Given the description of an element on the screen output the (x, y) to click on. 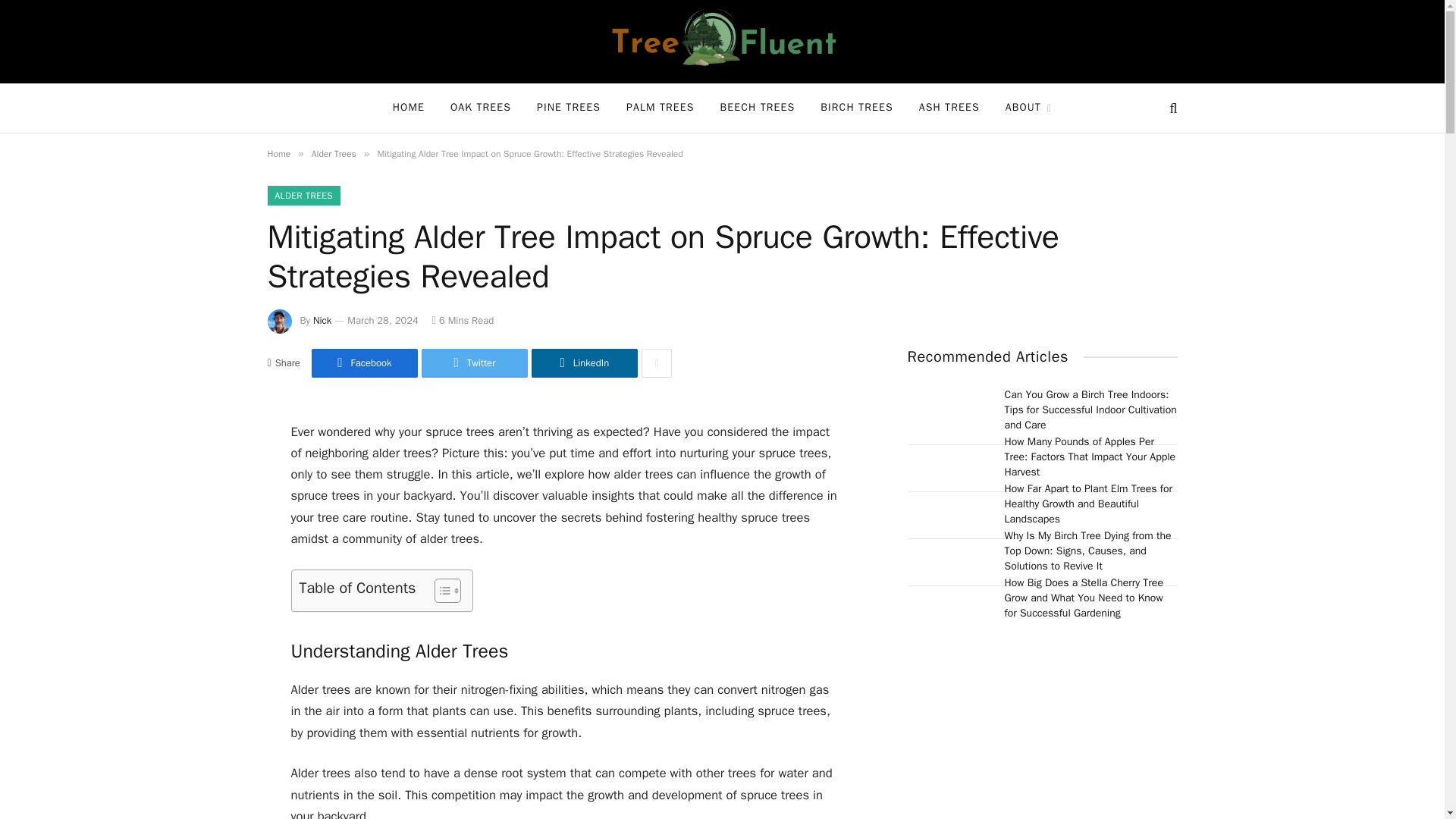
Tree Fluent (721, 41)
OAK TREES (481, 107)
BIRCH TREES (856, 107)
Nick (322, 319)
Facebook (364, 362)
HOME (409, 107)
Share on Facebook (364, 362)
PALM TREES (659, 107)
ABOUT (1028, 107)
Posts by Nick (322, 319)
BEECH TREES (757, 107)
ASH TREES (948, 107)
LinkedIn (584, 362)
Home (277, 153)
Twitter (474, 362)
